Given the description of an element on the screen output the (x, y) to click on. 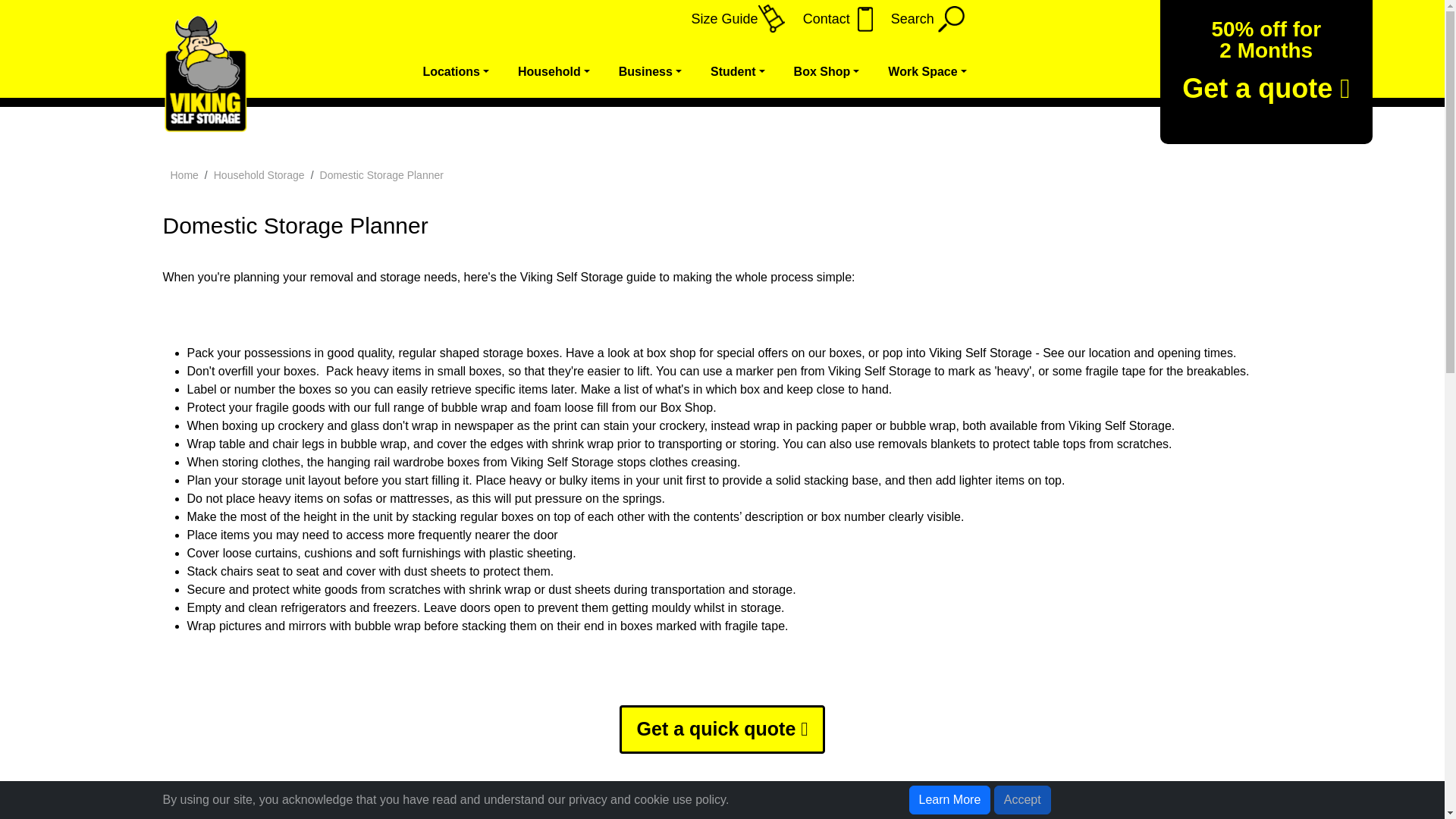
Size Guide (733, 18)
Locations (446, 71)
Household (545, 71)
Student (729, 71)
Accept (1022, 799)
Contact (833, 18)
Business (641, 71)
Search (922, 18)
Learn More (949, 799)
